Given the description of an element on the screen output the (x, y) to click on. 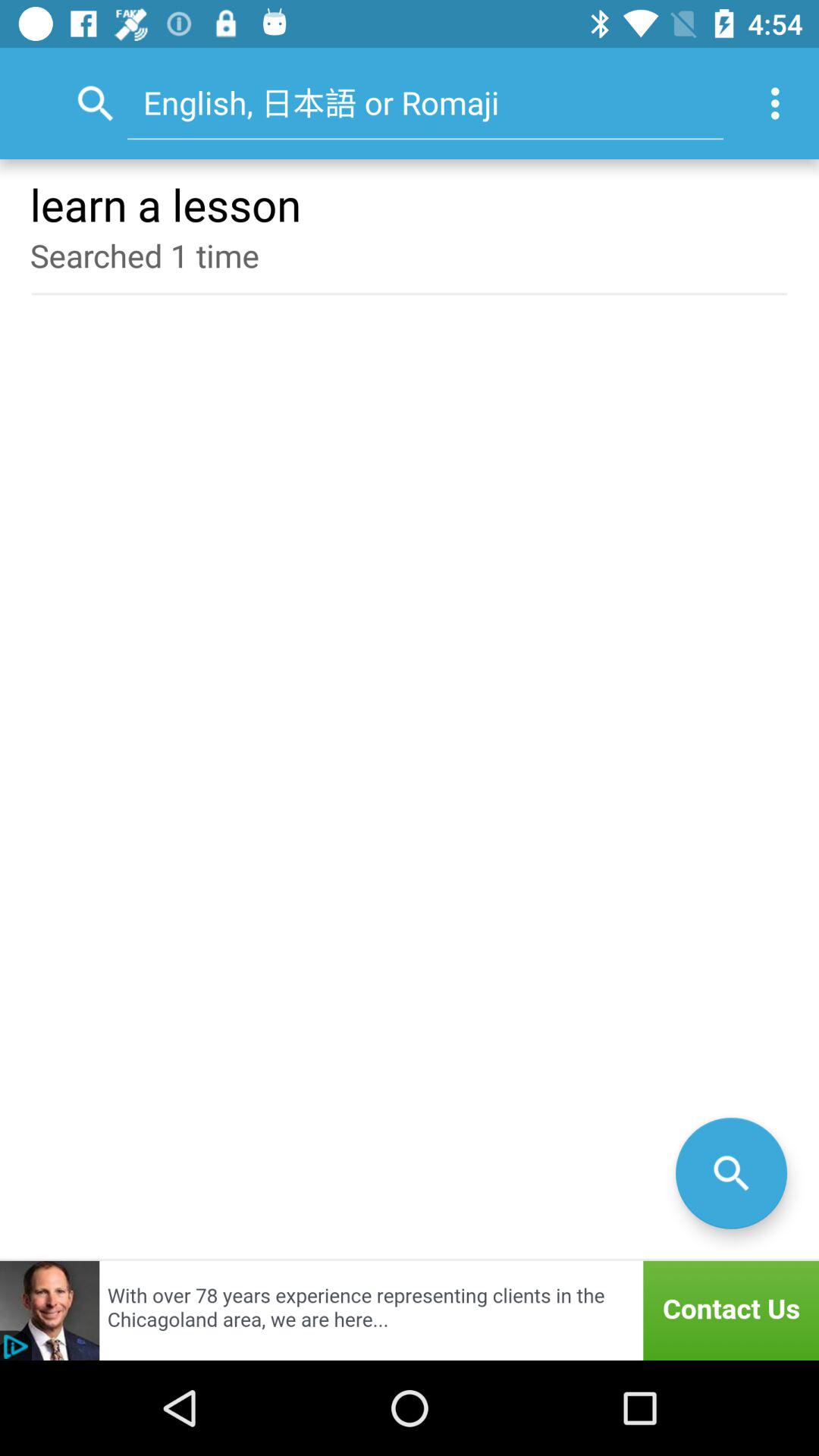
tap the icon at the bottom right corner (731, 1173)
